Given the description of an element on the screen output the (x, y) to click on. 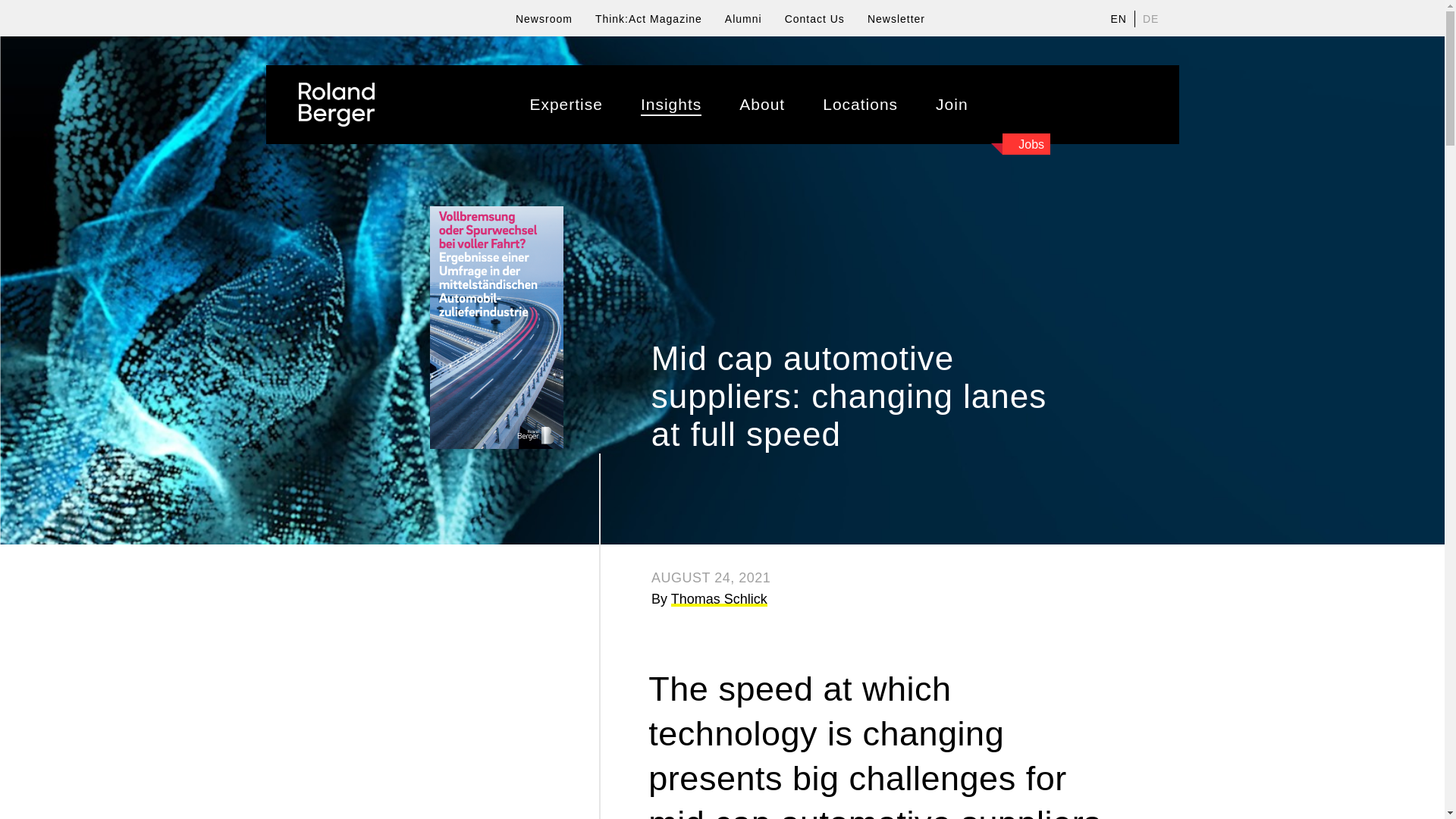
Roland Berger (336, 104)
About (761, 105)
Expertise (565, 105)
Insights (670, 105)
Locations (860, 105)
Expertise (565, 105)
Join (952, 105)
